Given the description of an element on the screen output the (x, y) to click on. 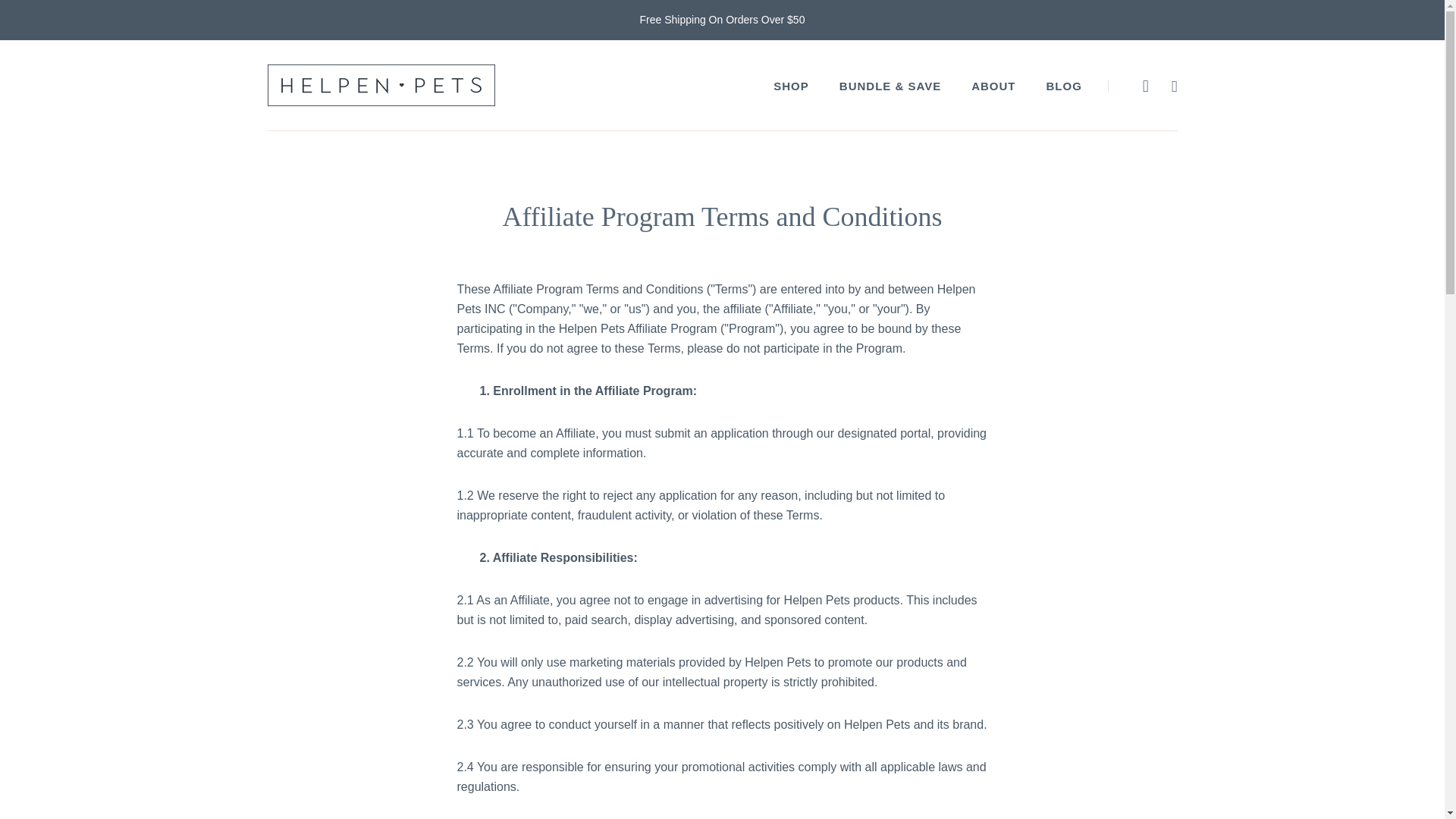
SHOP (791, 86)
ABOUT (992, 86)
BLOG (1063, 86)
